Given the description of an element on the screen output the (x, y) to click on. 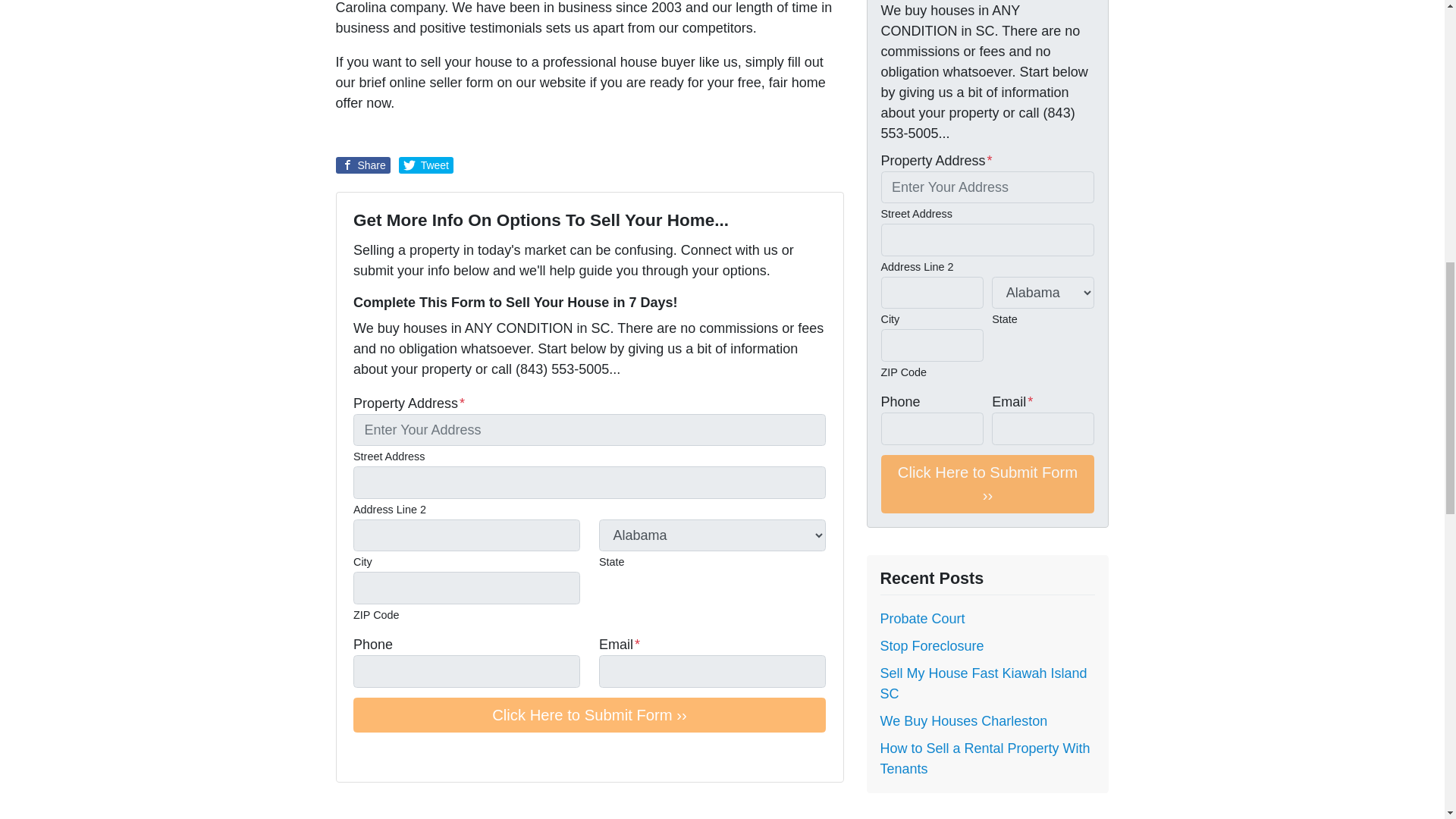
Probate Court (921, 618)
Twitter (362, 755)
Instagram (447, 755)
Stop Foreclosure (931, 645)
Sell My House Fast Kiawah Island SC (982, 683)
How to Sell a Rental Property With Tenants (984, 758)
Share (362, 165)
LinkedIn (425, 755)
YouTube (404, 755)
We Buy Houses Charleston (962, 720)
Share on Twitter (425, 165)
Share on Facebook (362, 165)
Facebook (383, 755)
Tweet (425, 165)
